Given the description of an element on the screen output the (x, y) to click on. 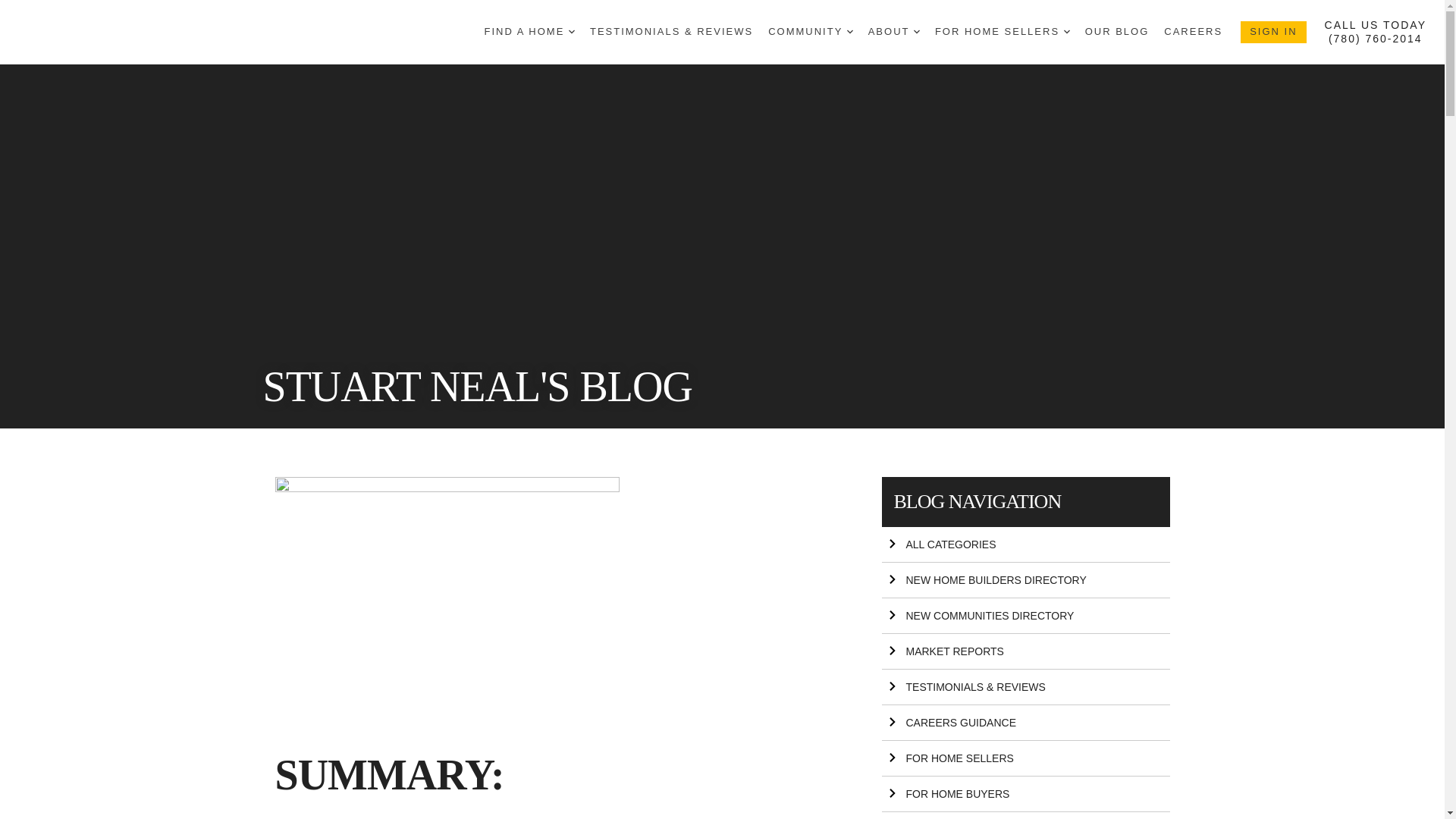
COMMUNITY DROPDOWN ARROW (810, 32)
DROPDOWN ARROW (917, 31)
DROPDOWN ARROW (572, 31)
DROPDOWN ARROW (1067, 31)
FIND A HOME DROPDOWN ARROW (529, 32)
FOR HOME SELLERS DROPDOWN ARROW (1002, 32)
OUR BLOG (1117, 32)
DROPDOWN ARROW (850, 31)
ABOUT DROPDOWN ARROW (893, 32)
